Given the description of an element on the screen output the (x, y) to click on. 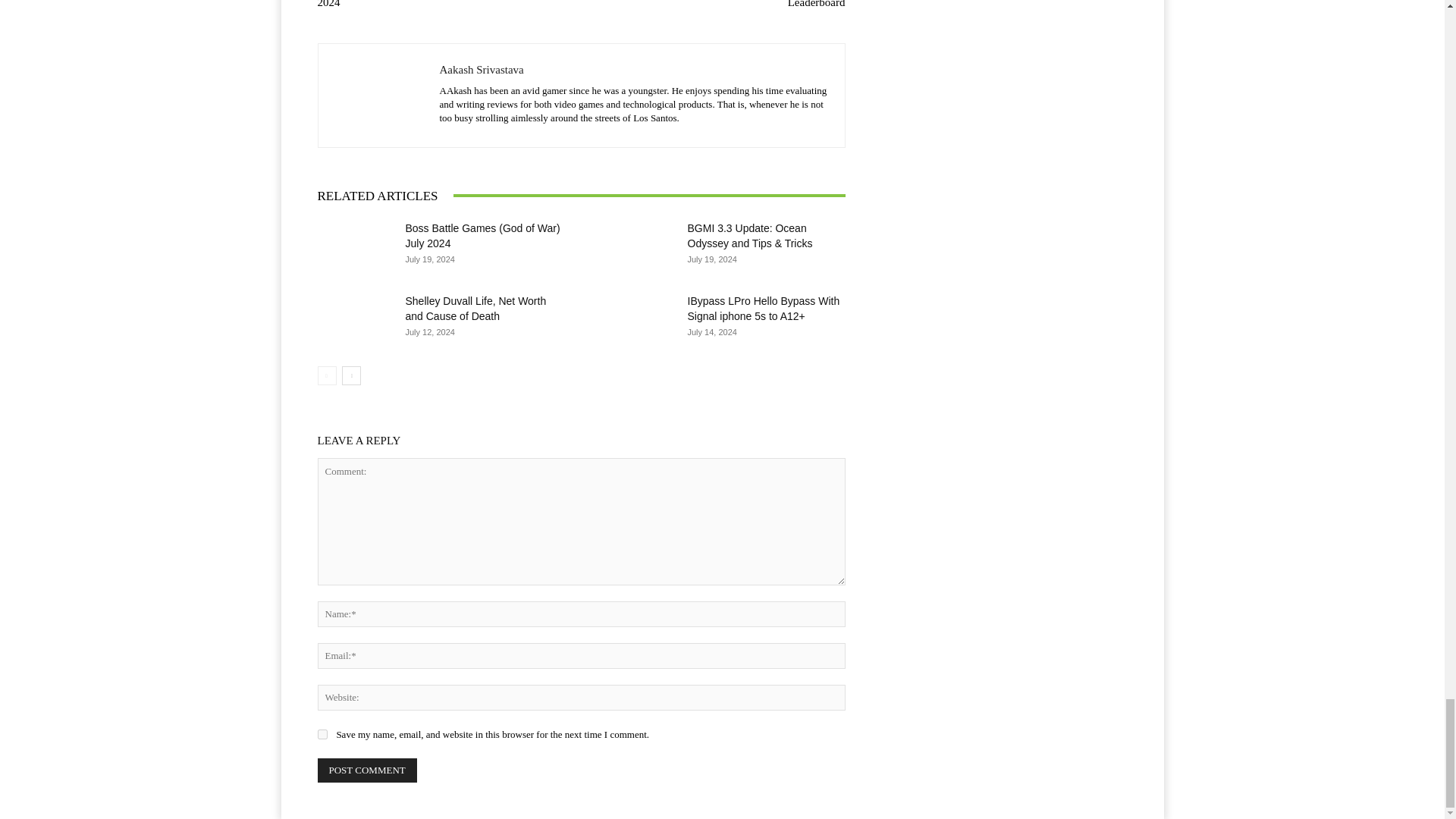
yes (321, 734)
Post Comment (366, 770)
